Given the description of an element on the screen output the (x, y) to click on. 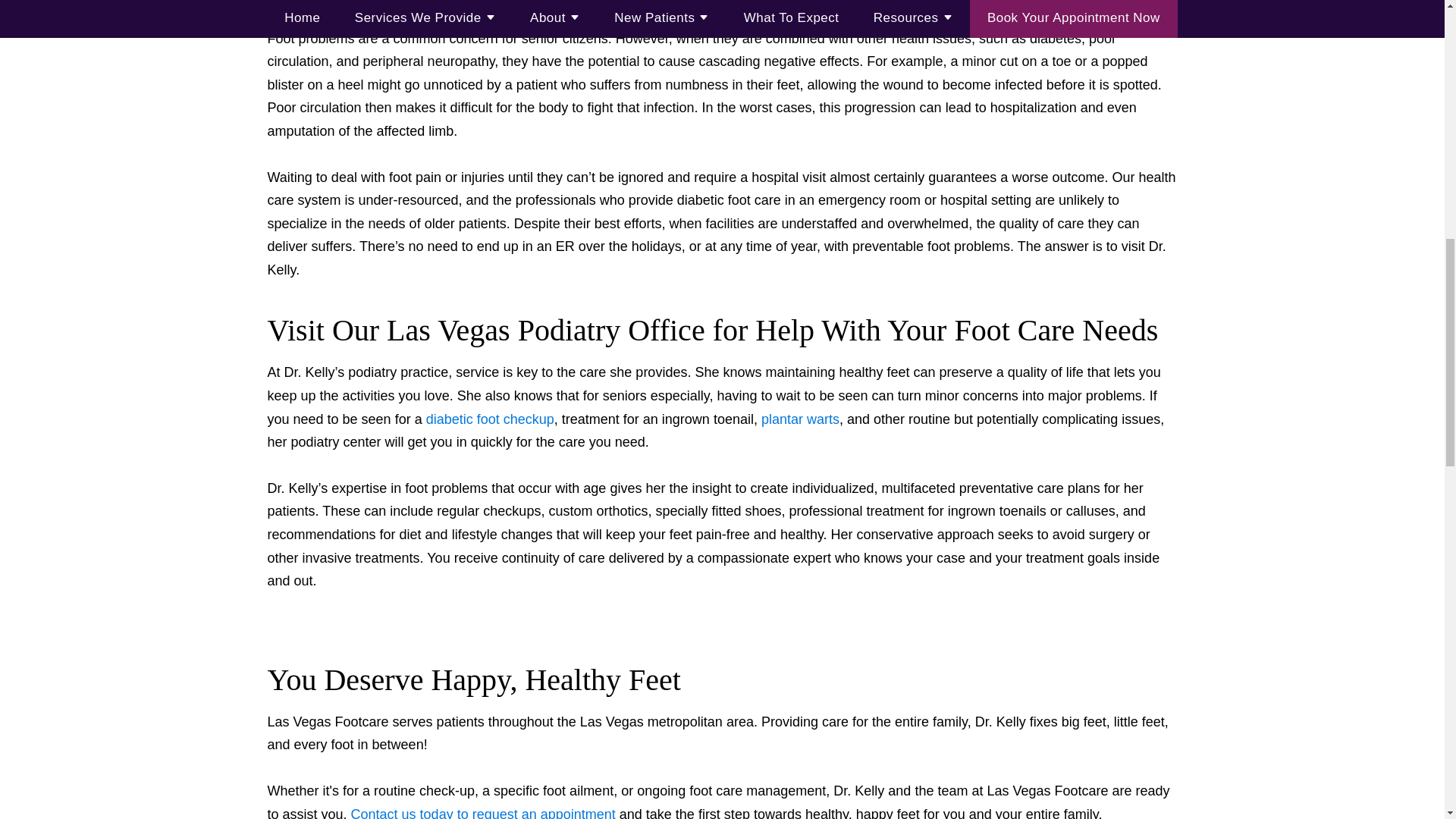
plantar warts (800, 418)
Contact us today to request an appointment (482, 812)
diabetic foot checkup (490, 418)
